Given the description of an element on the screen output the (x, y) to click on. 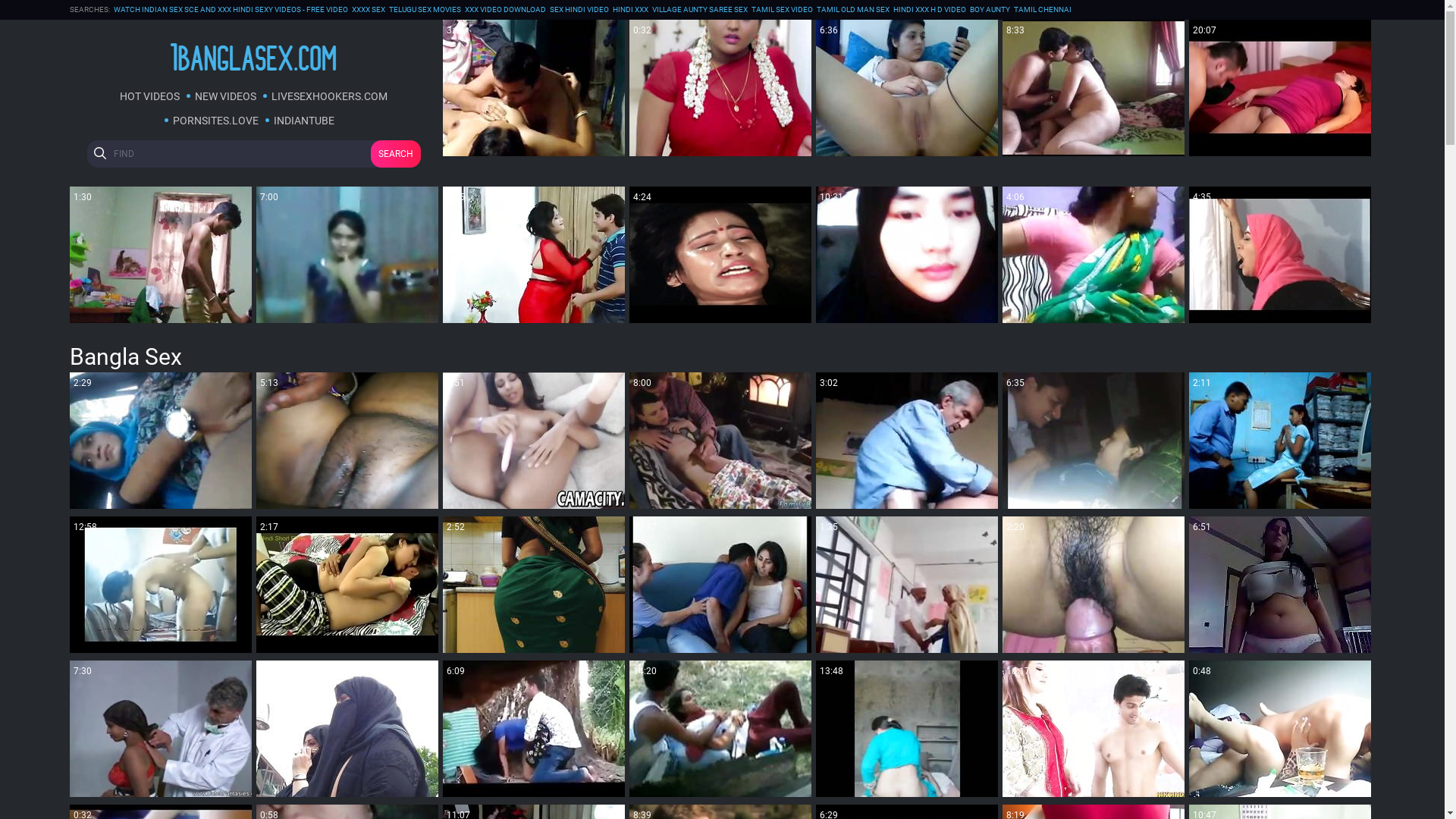
0:33 Element type: text (347, 728)
10:17 Element type: text (1093, 728)
10:31 Element type: text (906, 254)
XXX VIDEO DOWNLOAD Element type: text (504, 9)
HINDI XXX H D VIDEO Element type: text (929, 9)
14:20 Element type: text (720, 728)
HINDI XXX Element type: text (630, 9)
TELUGU SEX MOVIES Element type: text (424, 9)
0:48 Element type: text (1280, 728)
6:35 Element type: text (1093, 440)
6:51 Element type: text (533, 440)
WATCH INDIAN SEX SCE AND XXX HINDI SEXY VIDEOS - FREE VIDEO Element type: text (230, 9)
HOT VIDEOS Element type: text (149, 96)
BOY AUNTY Element type: text (989, 9)
2:20 Element type: text (1093, 584)
TAMIL SEX VIDEO Element type: text (781, 9)
5:13 Element type: text (347, 440)
4:35 Element type: text (1280, 254)
0:32 Element type: text (720, 87)
13:48 Element type: text (906, 728)
1:30 Element type: text (160, 254)
2:11 Element type: text (1280, 440)
3:56 Element type: text (533, 87)
2:29 Element type: text (160, 440)
1:35 Element type: text (906, 584)
7:30 Element type: text (160, 728)
4:24 Element type: text (720, 254)
20:07 Element type: text (1280, 87)
LIVESEXHOOKERS.COM Element type: text (329, 96)
6:09 Element type: text (533, 728)
NEW VIDEOS Element type: text (225, 96)
XXXX SEX Element type: text (368, 9)
3:02 Element type: text (906, 440)
7:00 Element type: text (347, 254)
SEARCH Element type: text (395, 153)
6:36 Element type: text (906, 87)
TAMIL OLD MAN SEX Element type: text (851, 9)
4:06 Element type: text (1093, 254)
PORNSITES.LOVE Element type: text (215, 120)
4:25 Element type: text (533, 254)
2:52 Element type: text (533, 584)
12:58 Element type: text (160, 584)
8:33 Element type: text (1093, 87)
22:37 Element type: text (720, 584)
8:00 Element type: text (720, 440)
SEX HINDI VIDEO Element type: text (578, 9)
6:51 Element type: text (1280, 584)
TAMIL CHENNAI Element type: text (1041, 9)
2:17 Element type: text (347, 584)
INDIANTUBE Element type: text (304, 120)
VILLAGE AUNTY SAREE SEX Element type: text (699, 9)
